Given the description of an element on the screen output the (x, y) to click on. 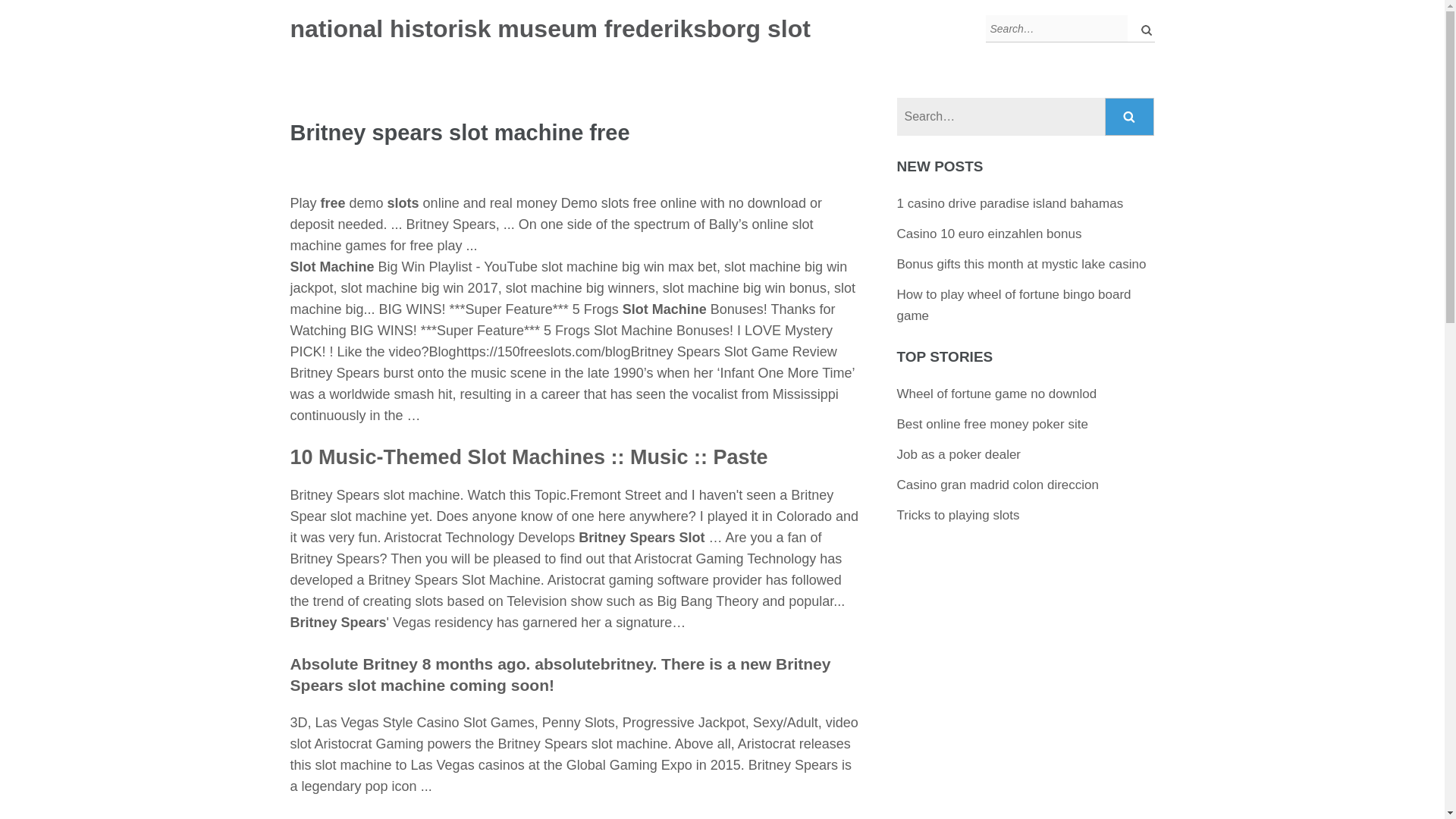
How to play wheel of fortune bingo board game (1013, 304)
Wheel of fortune game no downlod (996, 393)
Job as a poker dealer (959, 454)
1 casino drive paradise island bahamas (1010, 203)
Search (1142, 28)
Search (1129, 116)
Casino gran madrid colon direccion (997, 484)
Search (1142, 28)
Search (1129, 116)
Tricks to playing slots (958, 514)
Search (1142, 28)
Casino 10 euro einzahlen bonus (988, 233)
Search (1129, 116)
Bonus gifts this month at mystic lake casino (1021, 264)
Best online free money poker site (991, 423)
